Given the description of an element on the screen output the (x, y) to click on. 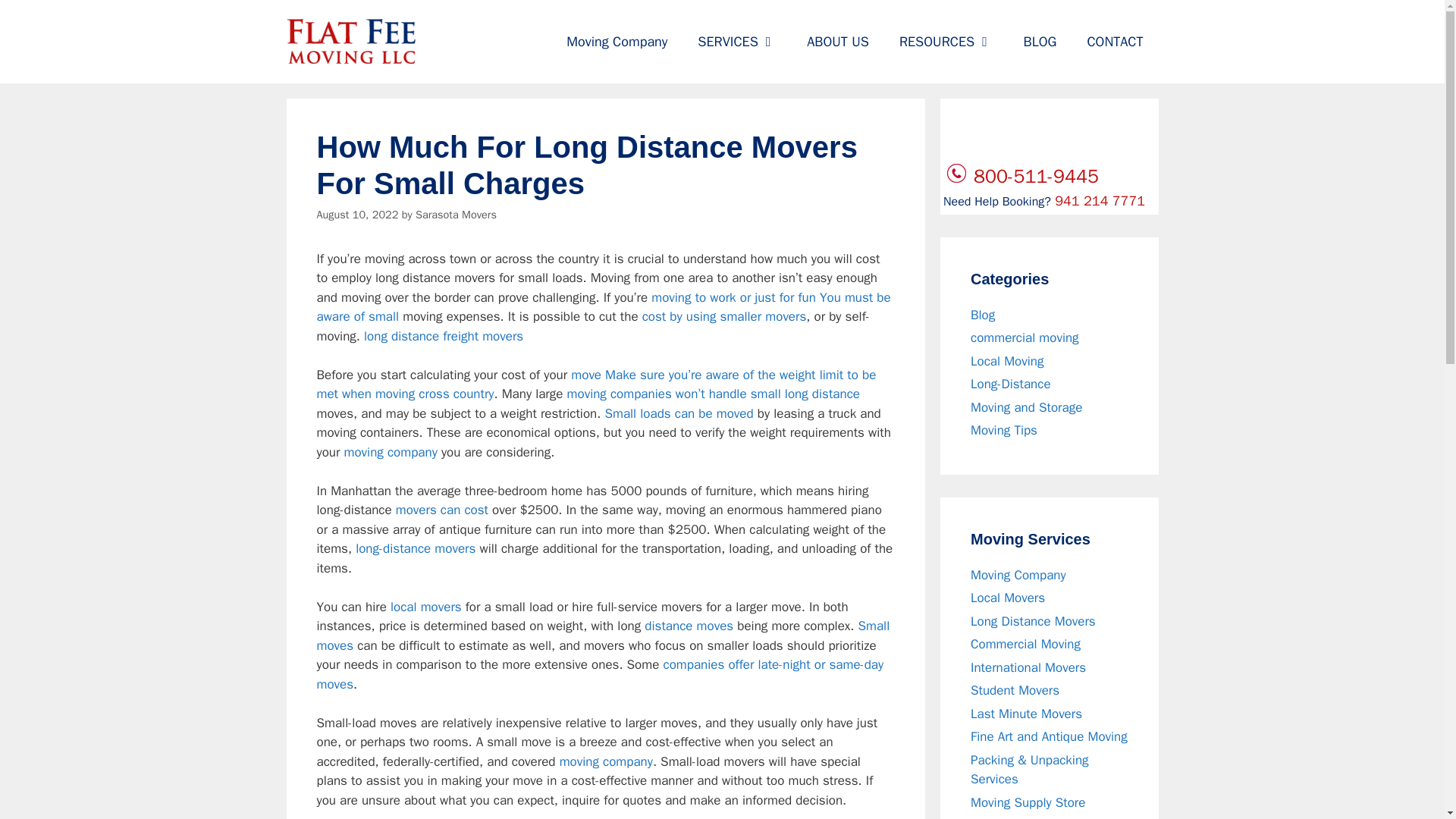
moving company (605, 761)
Tips for Making a Long Distance Move within a Budget (713, 393)
SERVICES (737, 41)
cost by using smaller movers (724, 316)
long distance freight movers (443, 335)
Sarasota Movers (455, 214)
CONTACT (1114, 41)
ABOUT US (837, 41)
distance moves (689, 625)
Long Distance Moving Pod Companies (600, 674)
